Given the description of an element on the screen output the (x, y) to click on. 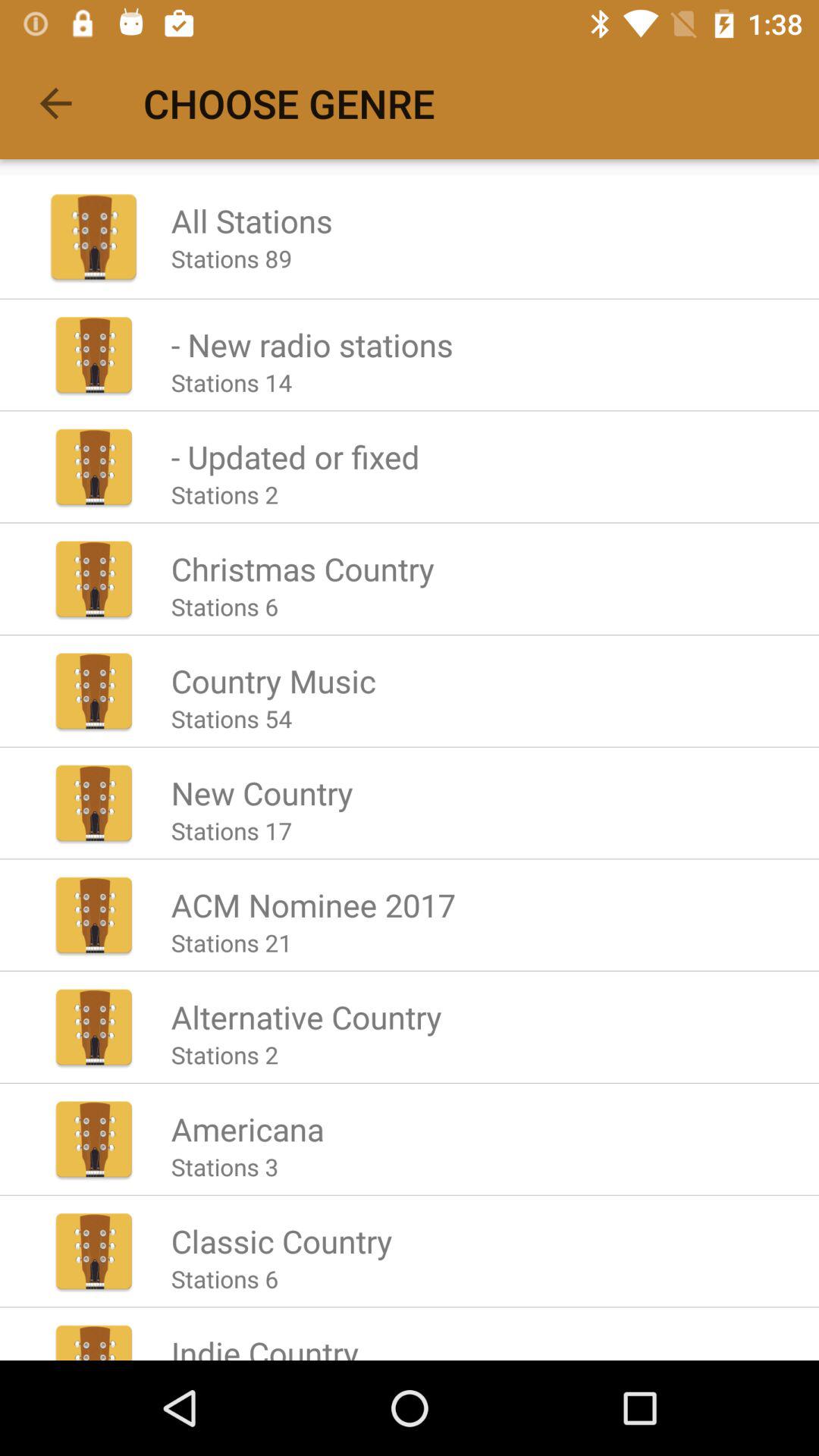
flip to the americana icon (247, 1128)
